Given the description of an element on the screen output the (x, y) to click on. 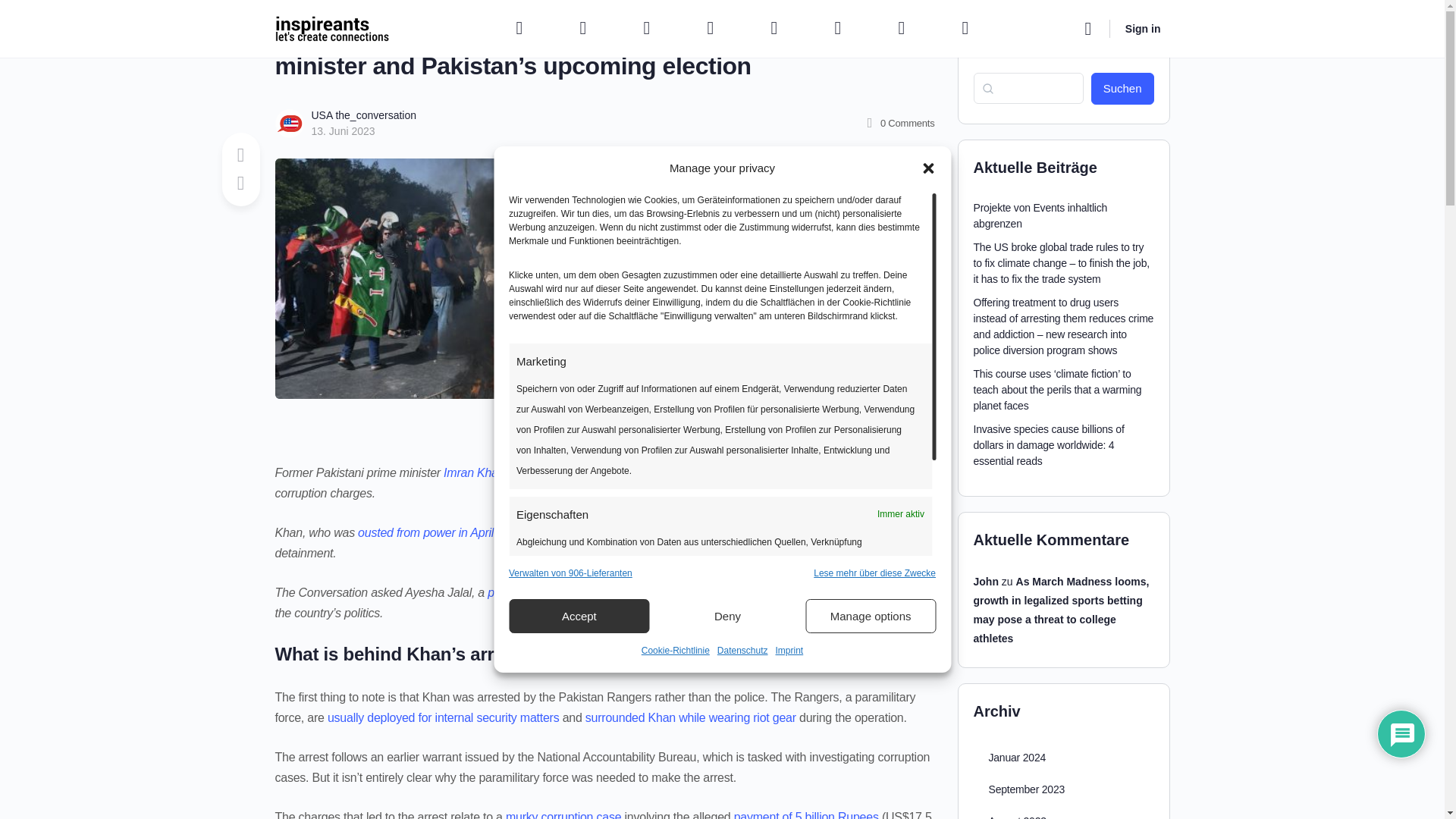
Cookie-Richtlinie (676, 650)
Manage options (870, 615)
Datenschutz (742, 650)
Verwalten von 906-Lieferanten (569, 573)
Imprint (789, 650)
Deny (727, 615)
Sign in (1143, 28)
Accept (578, 615)
